Given the description of an element on the screen output the (x, y) to click on. 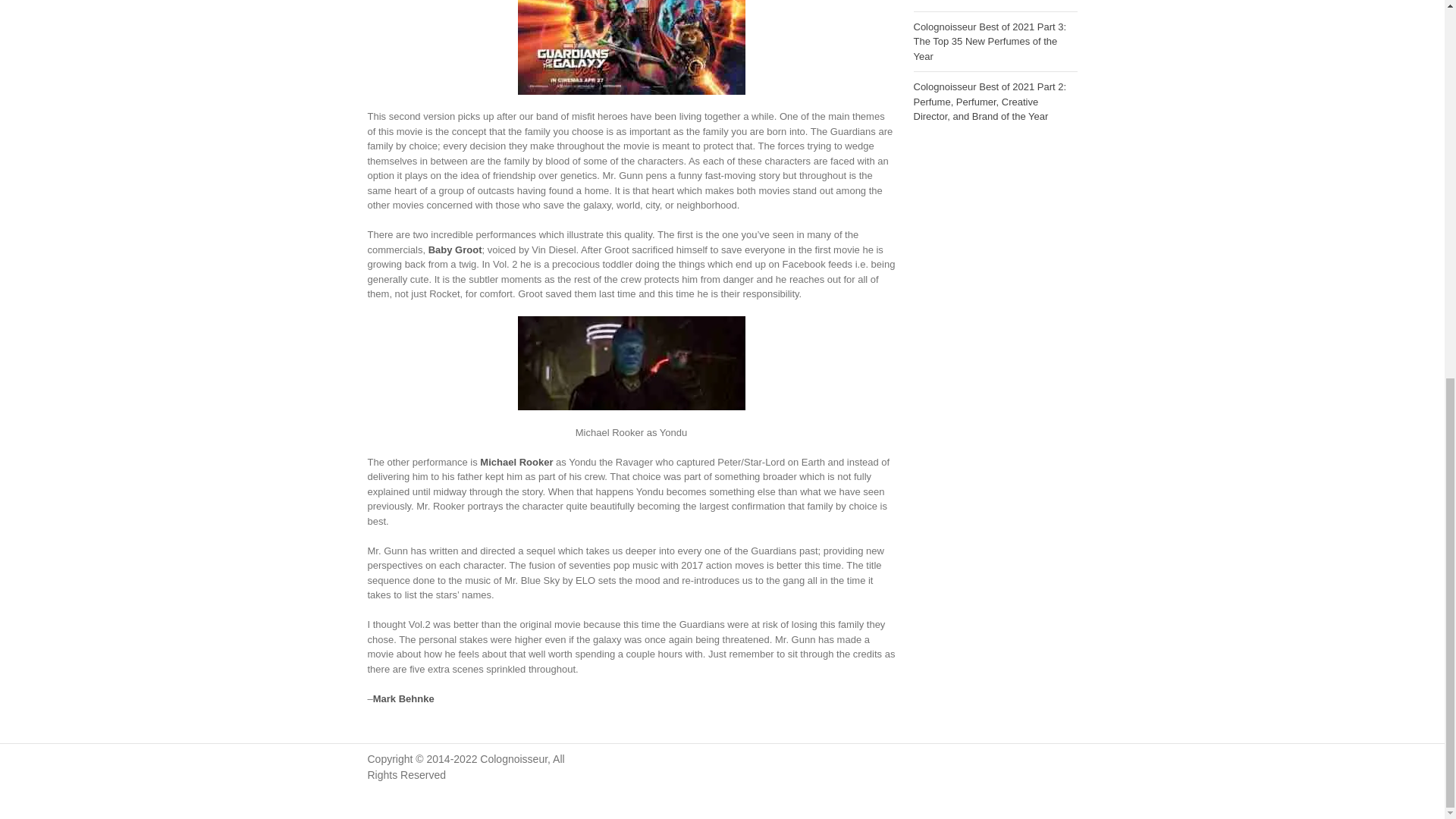
Colognoisseur 2022 Hopes and Wishes (981, 1)
